Given the description of an element on the screen output the (x, y) to click on. 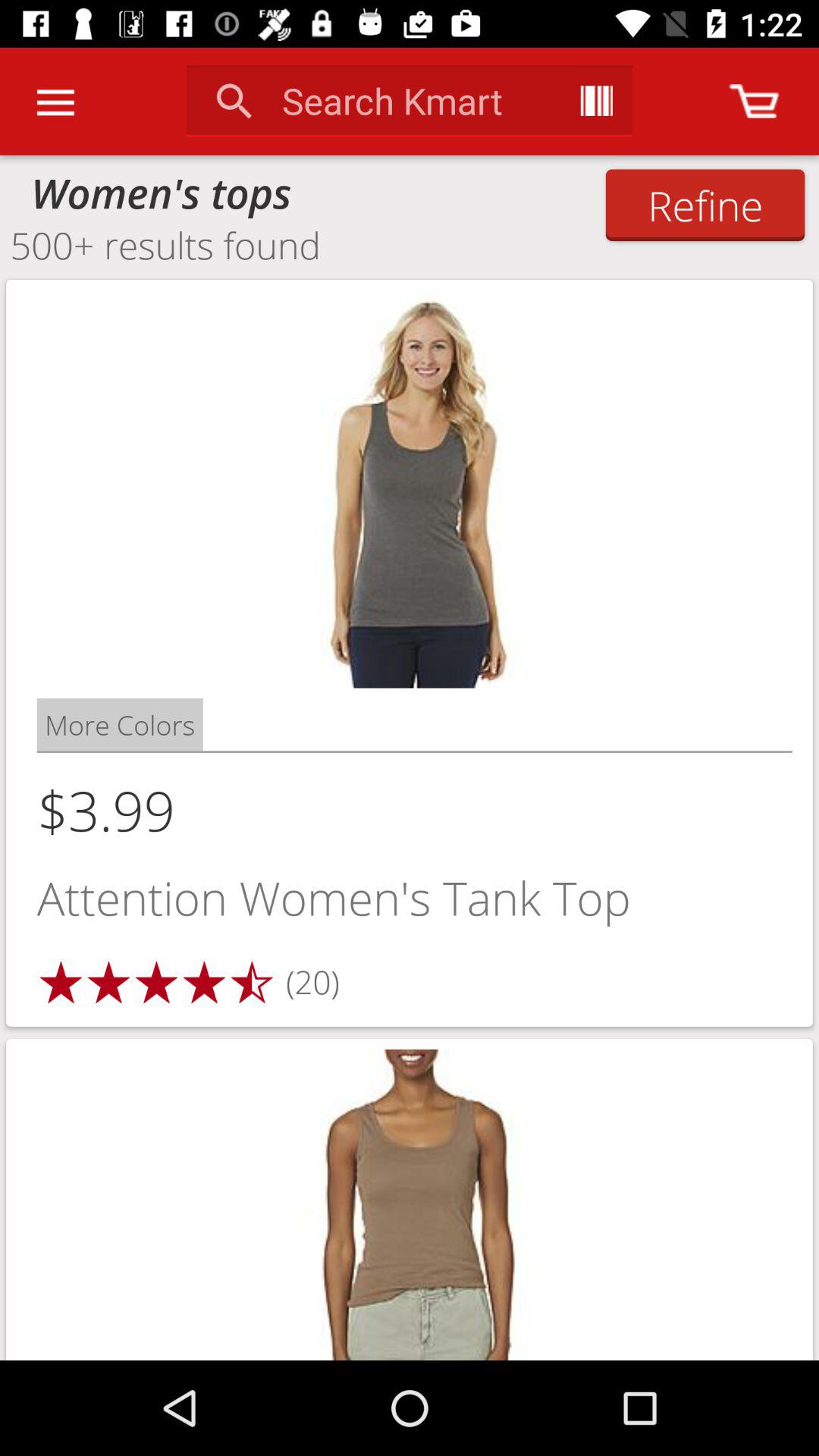
swipe to the refine item (704, 205)
